Given the description of an element on the screen output the (x, y) to click on. 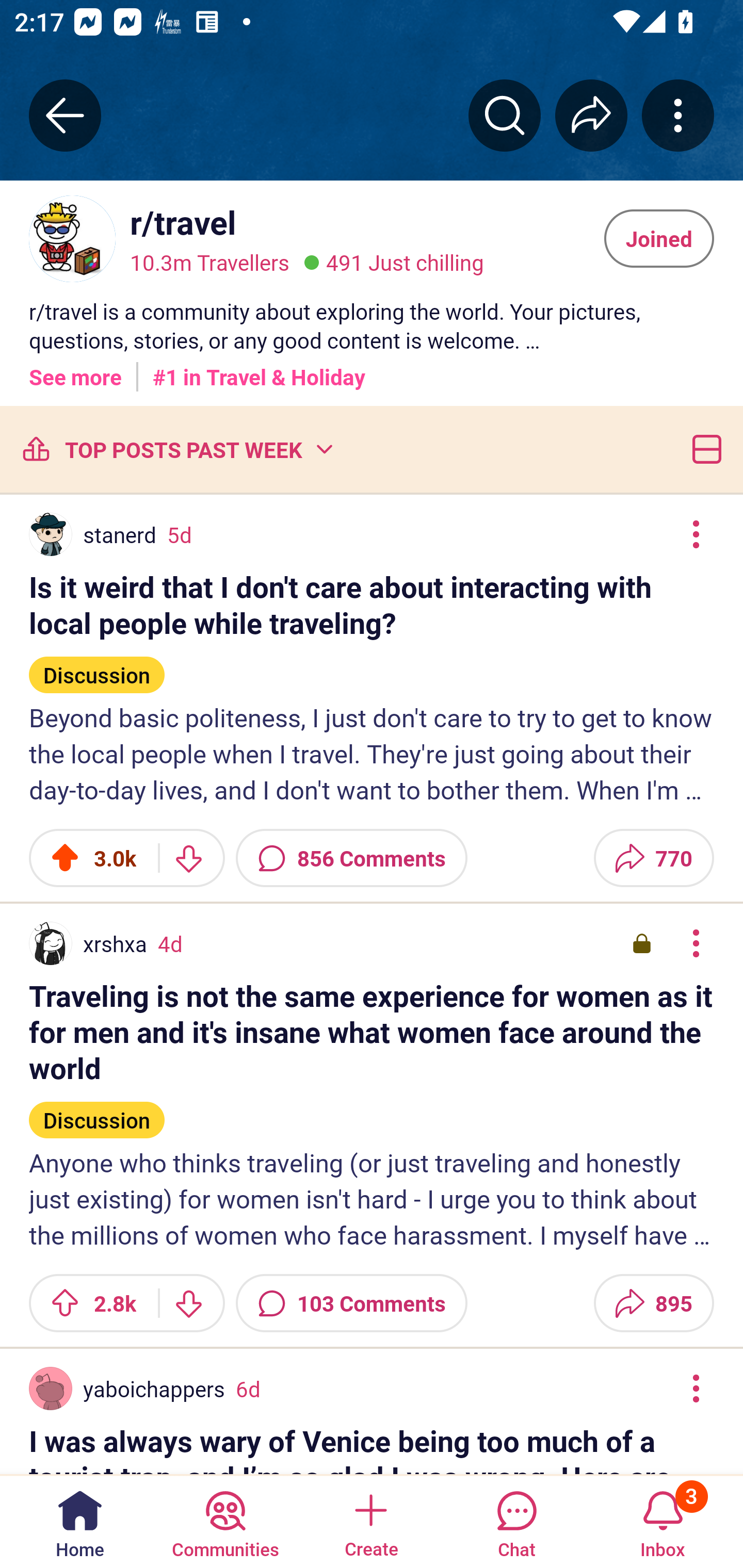
Back (64, 115)
Search r/﻿travel (504, 115)
Share r/﻿travel (591, 115)
More community actions (677, 115)
Top posts TOP POSTS PAST WEEK (176, 449)
Card (703, 449)
Discussion (96, 665)
Discussion (96, 1111)
Home (80, 1520)
Communities (225, 1520)
Create a post Create (370, 1520)
Chat (516, 1520)
Inbox, has 3 notifications 3 Inbox (662, 1520)
